Given the description of an element on the screen output the (x, y) to click on. 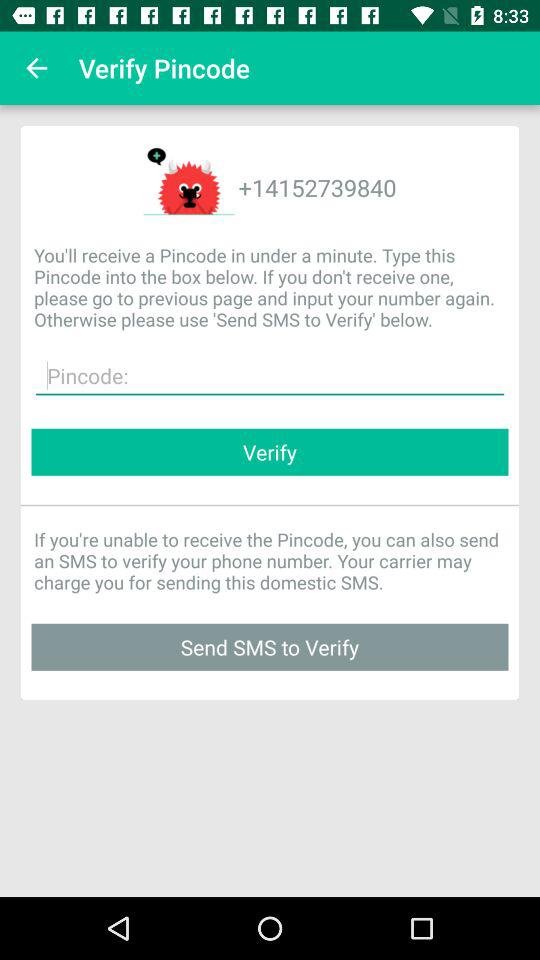
select the item below the you ll receive item (269, 375)
